Given the description of an element on the screen output the (x, y) to click on. 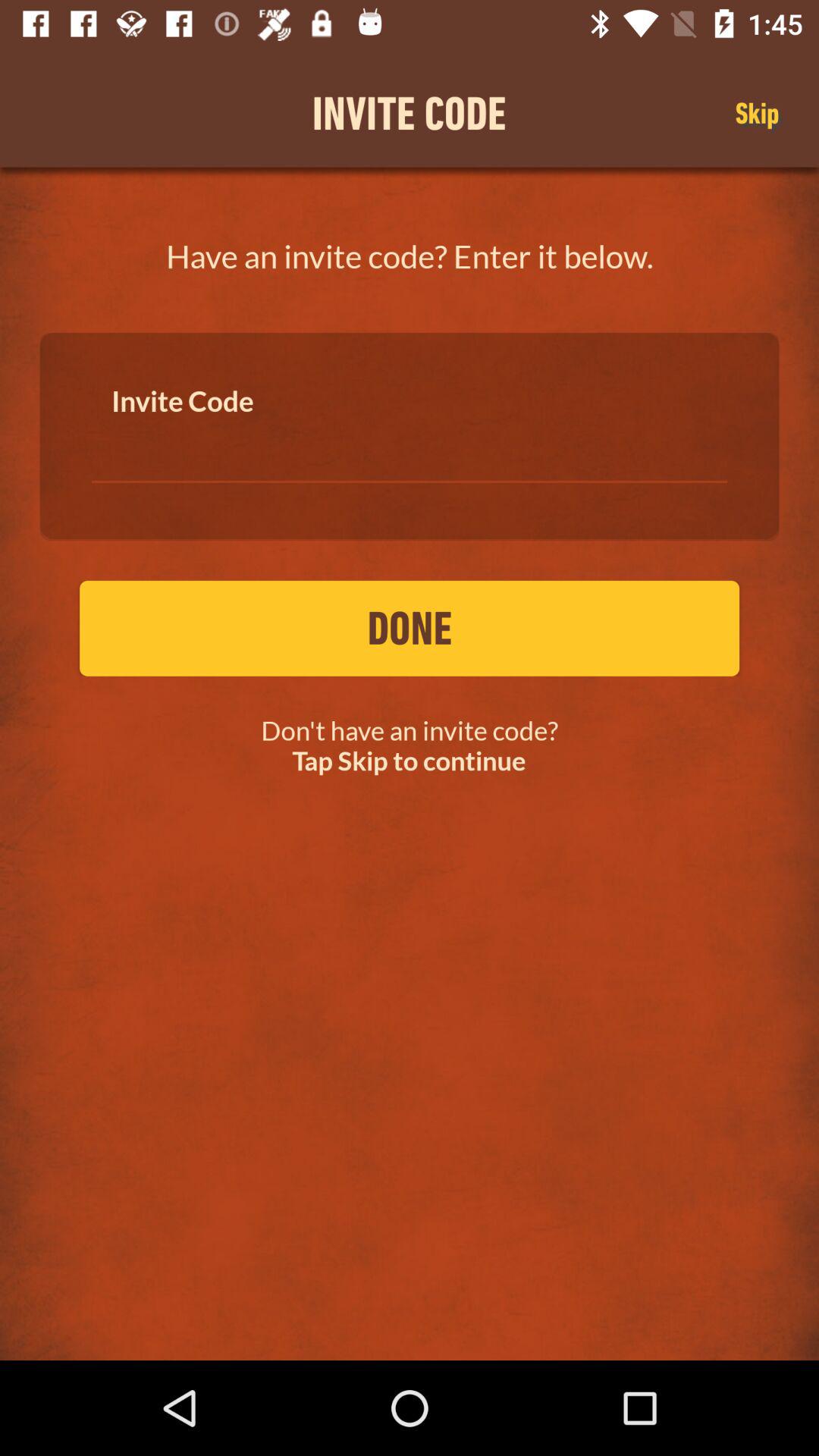
enter invite code (409, 446)
